Given the description of an element on the screen output the (x, y) to click on. 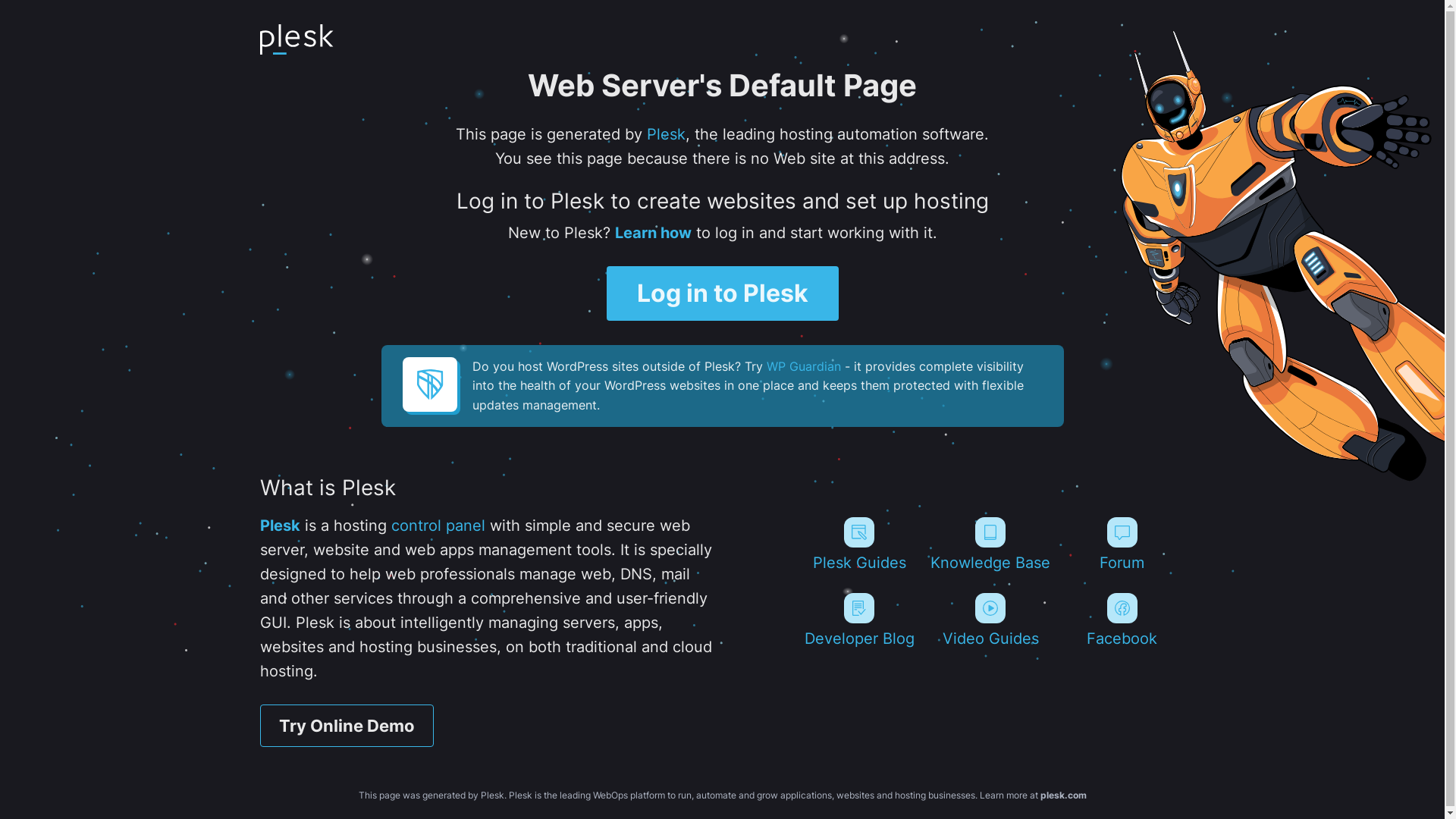
Log in to Plesk Element type: text (722, 293)
Learn how Element type: text (652, 232)
Forum Element type: text (1121, 544)
Facebook Element type: text (1121, 620)
WP Guardian Element type: text (802, 365)
Plesk Element type: text (279, 525)
Try Online Demo Element type: text (346, 725)
plesk.com Element type: text (1063, 794)
Video Guides Element type: text (990, 620)
Knowledge Base Element type: text (990, 544)
Plesk Guides Element type: text (858, 544)
control panel Element type: text (438, 525)
Plesk Element type: text (665, 134)
Developer Blog Element type: text (858, 620)
